Given the description of an element on the screen output the (x, y) to click on. 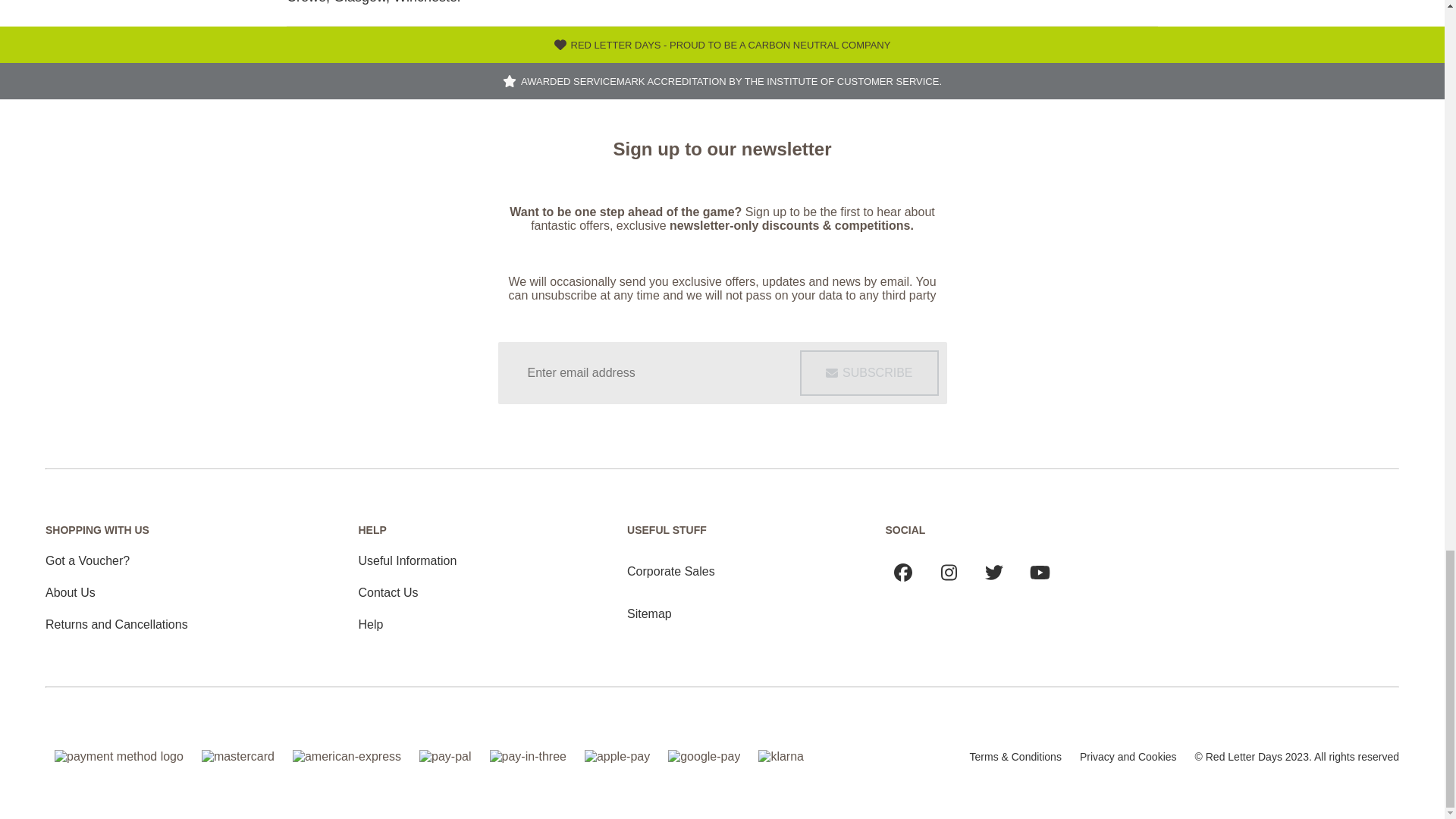
facebook (903, 572)
twitter (993, 572)
instagram (948, 572)
youtube (1040, 572)
